Given the description of an element on the screen output the (x, y) to click on. 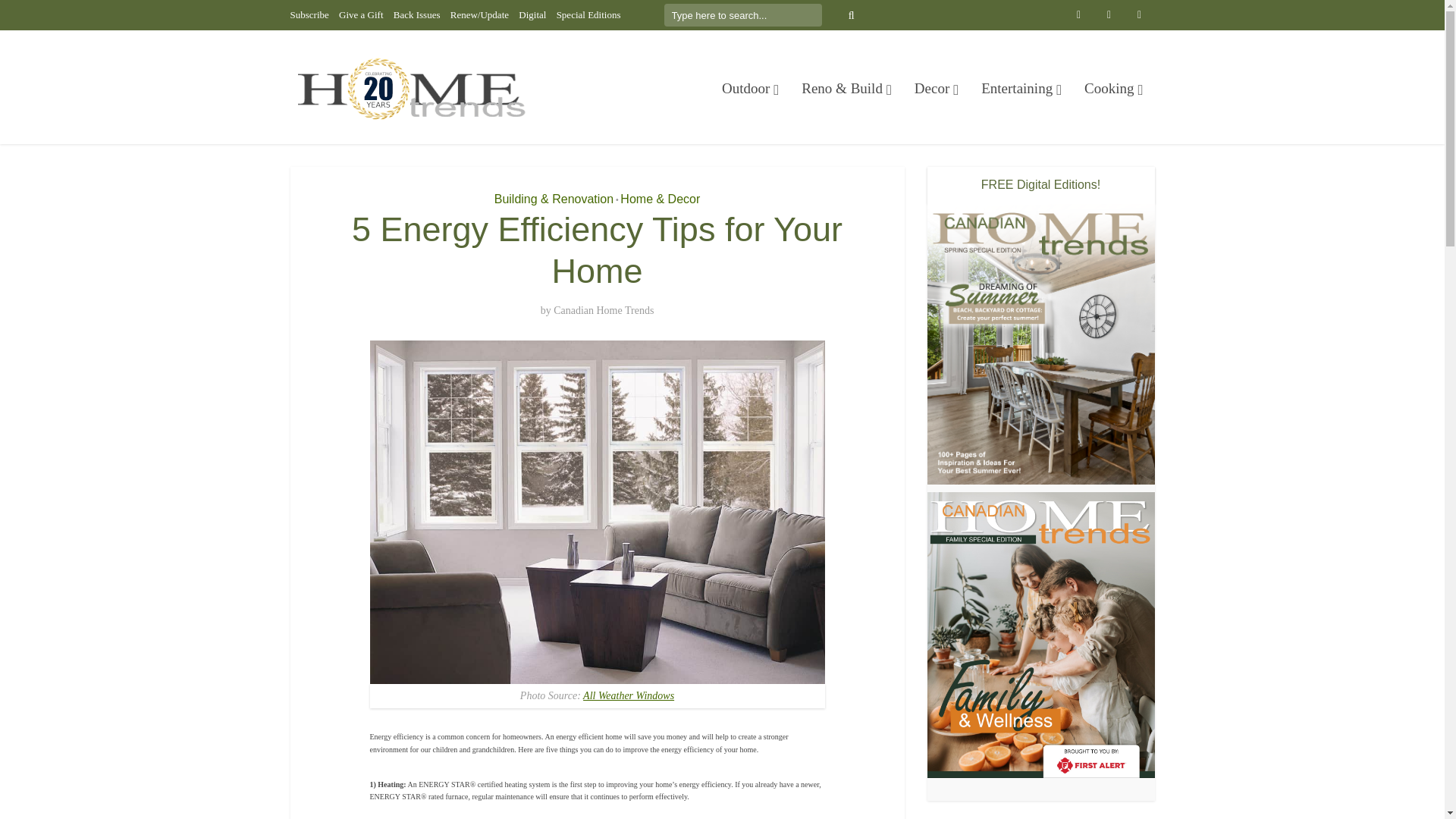
Type here to search... (742, 15)
Digital (532, 14)
Subscribe (309, 14)
Type here to search... (742, 15)
Give a Gift (360, 14)
Special Editions (588, 14)
Back Issues (417, 14)
